Given the description of an element on the screen output the (x, y) to click on. 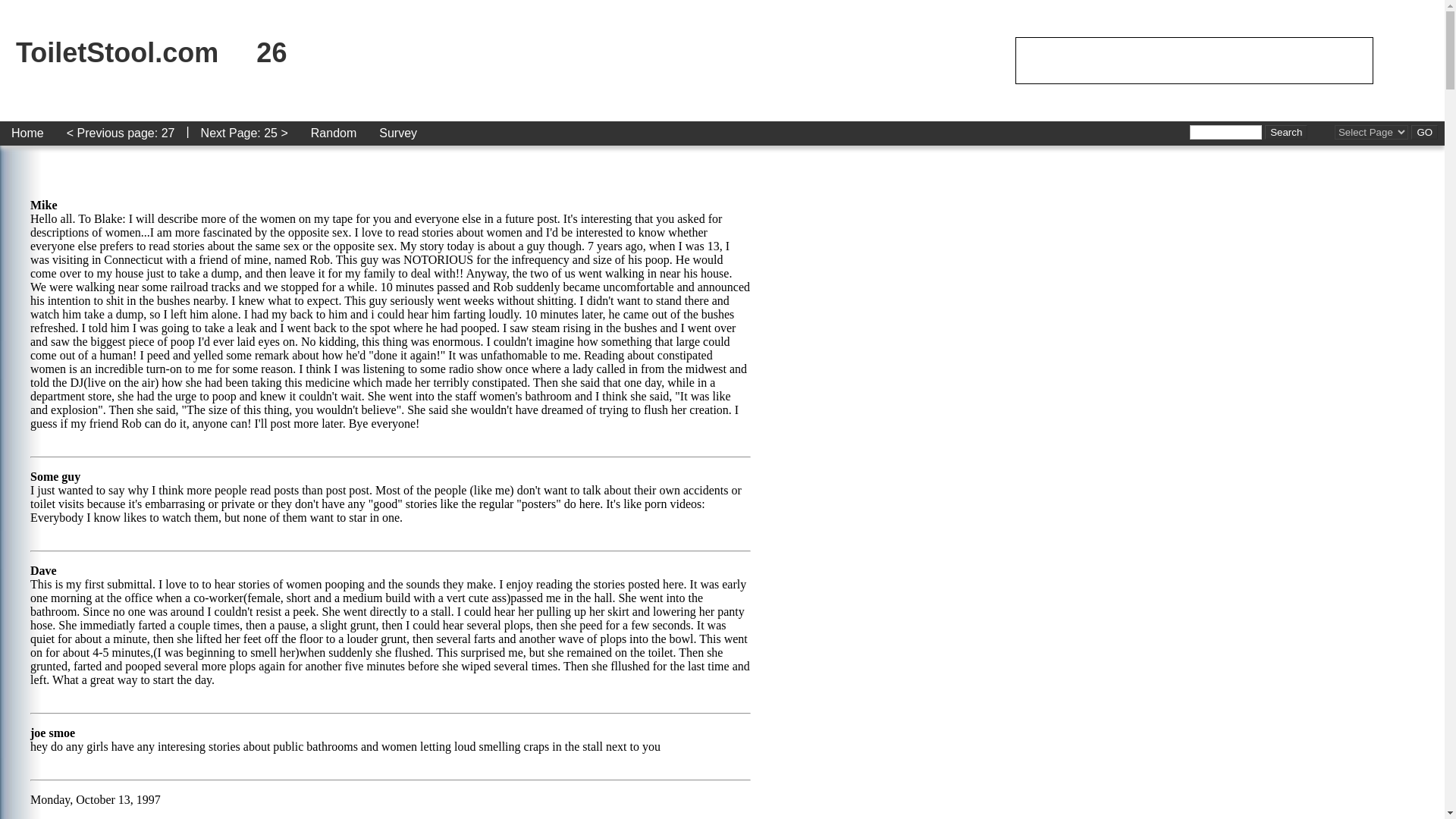
Search (1286, 132)
Survey (398, 133)
Random (333, 133)
Home (27, 133)
ToiletStool.com (117, 51)
GO (1424, 132)
Go backwards to the previous page (120, 133)
GO (1424, 132)
Search (1286, 132)
